Given the description of an element on the screen output the (x, y) to click on. 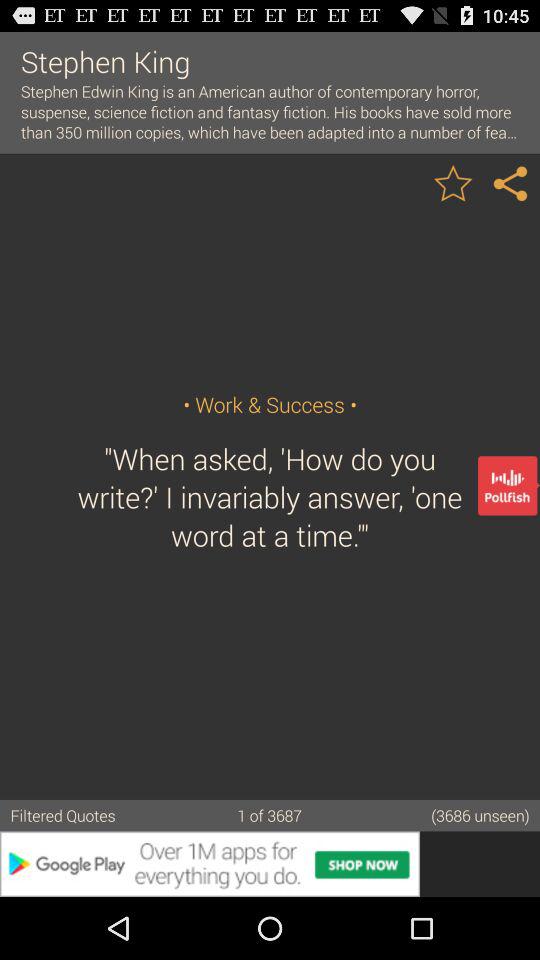
share the article (511, 182)
